Given the description of an element on the screen output the (x, y) to click on. 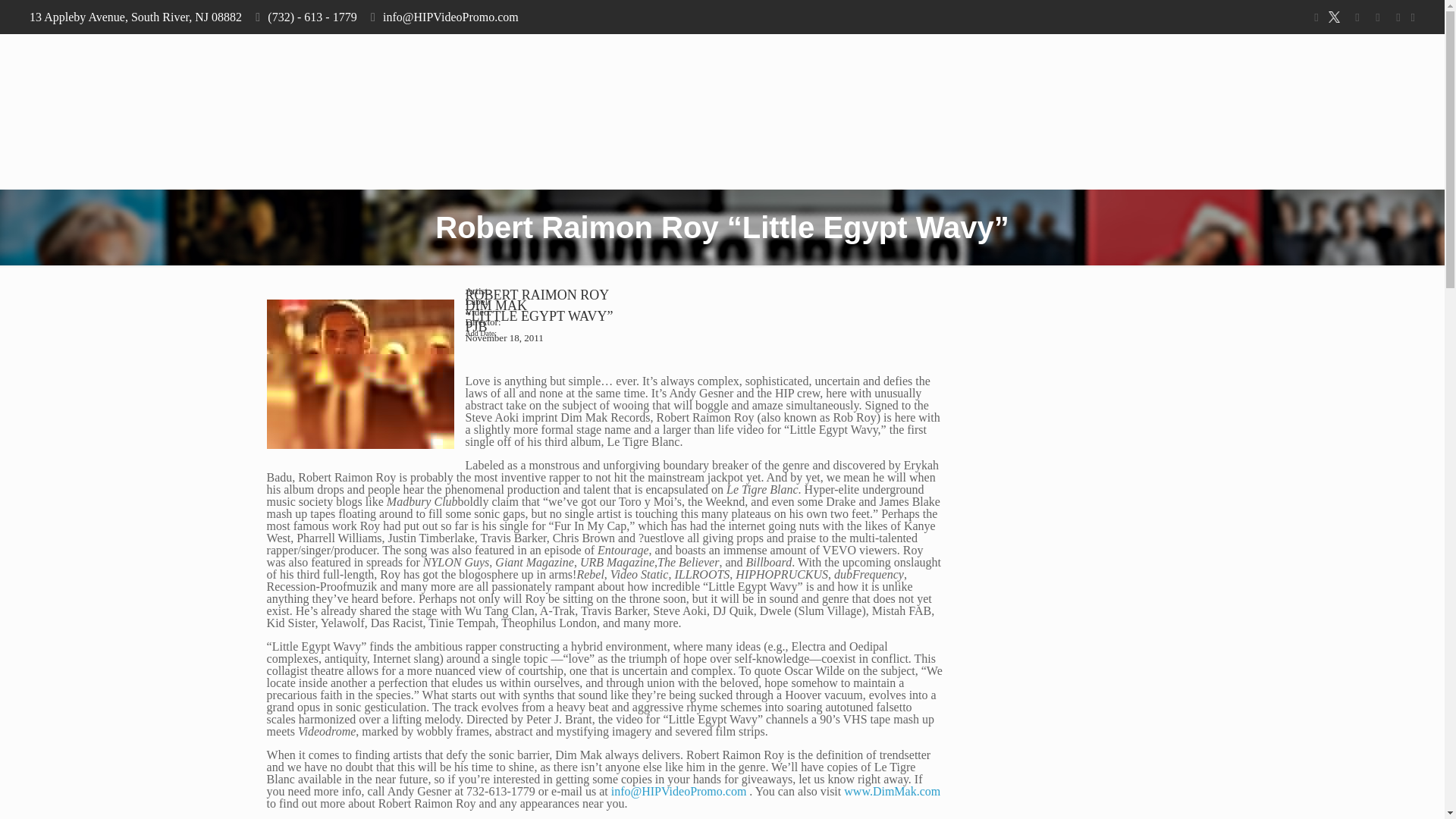
www.DimMak.com (892, 790)
YouTube (1357, 17)
Spotify (1398, 17)
Instagram (1378, 17)
Twitter (1335, 17)
Facebook (1315, 17)
13 Appleby Avenue, South River, NJ 08882 (135, 16)
